Given the description of an element on the screen output the (x, y) to click on. 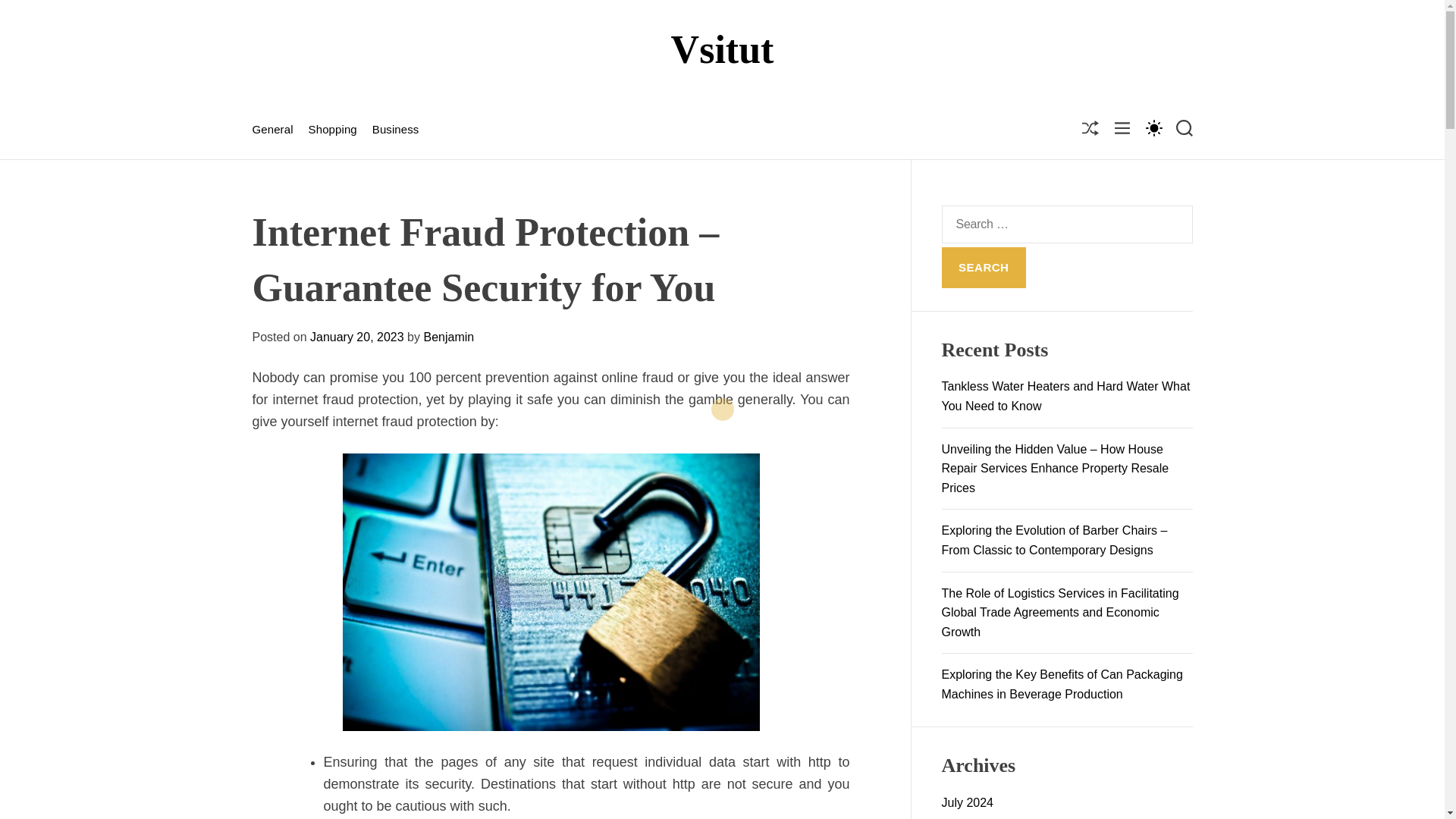
Benjamin (448, 336)
July 2024 (968, 802)
Search (984, 267)
General (271, 129)
Business (395, 129)
Search (984, 267)
Shopping (332, 129)
Vsitut (722, 49)
Tankless Water Heaters and Hard Water What You Need to Know (1066, 396)
Search (984, 267)
SWITCH COLOR MODE (1152, 127)
January 20, 2023 (357, 336)
